Given the description of an element on the screen output the (x, y) to click on. 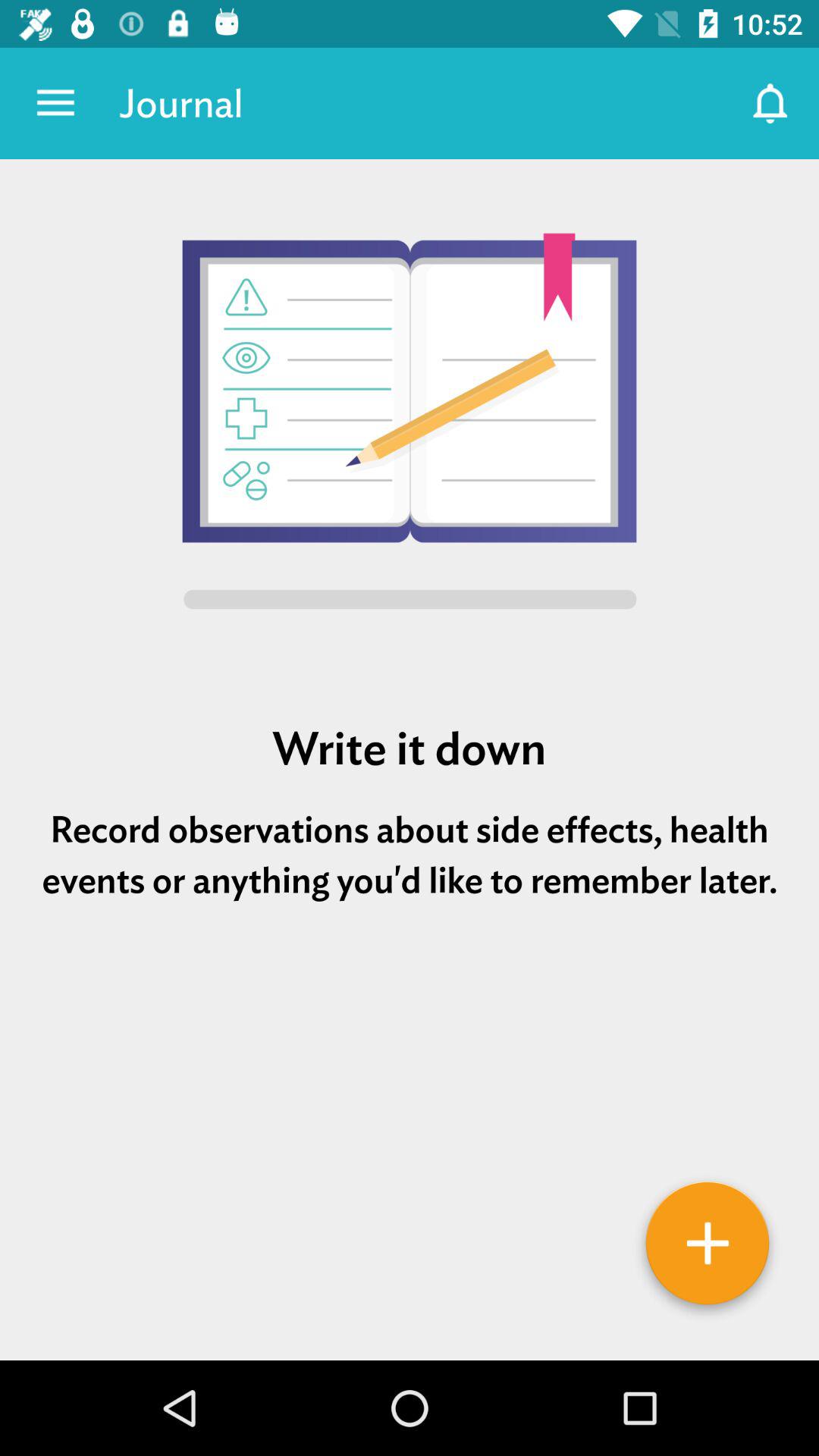
add journal entry (707, 1248)
